Given the description of an element on the screen output the (x, y) to click on. 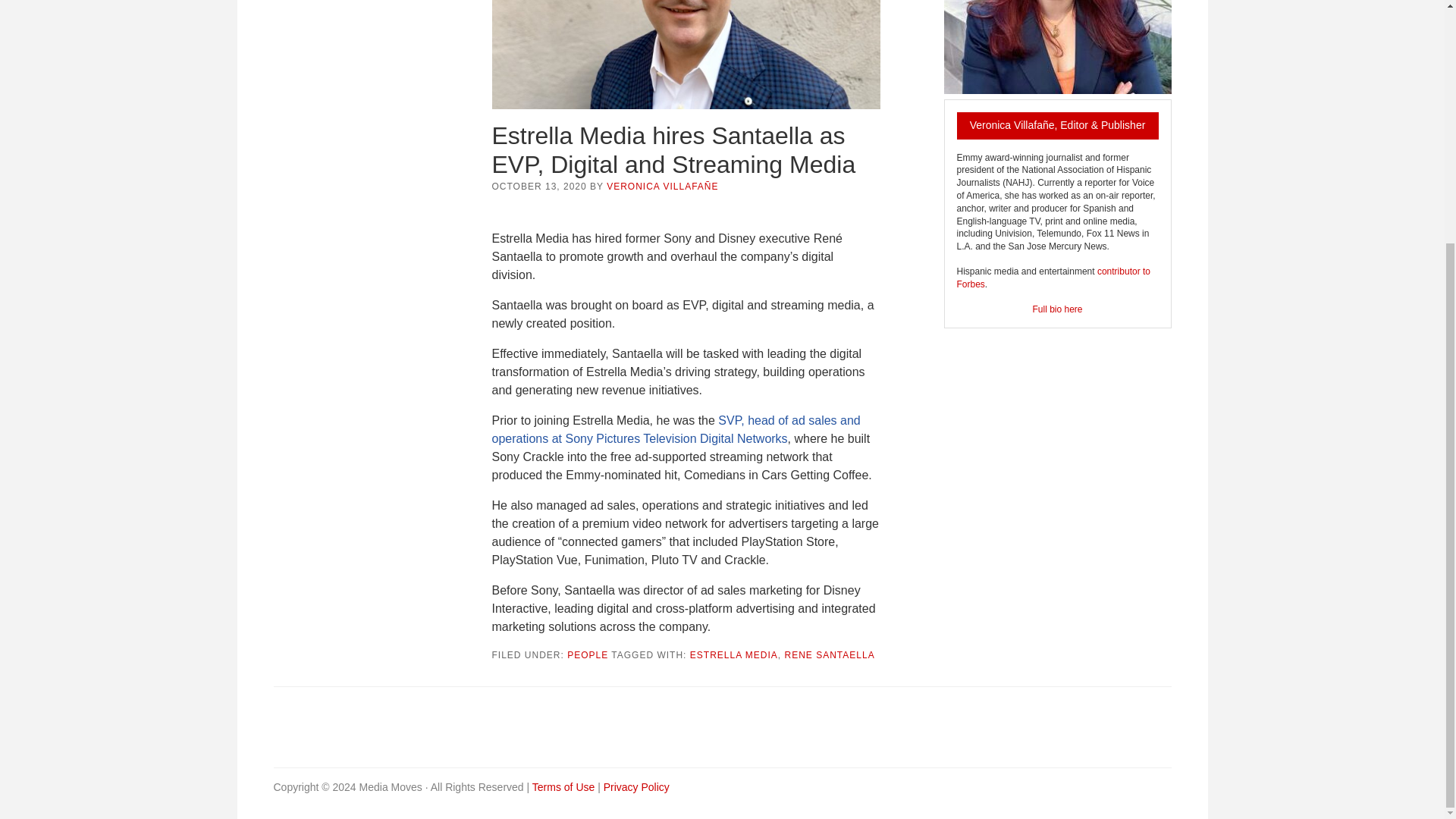
PEOPLE (587, 655)
ESTRELLA MEDIA (733, 655)
RENE SANTAELLA (829, 655)
contributor to Forbes (1053, 277)
